Given the description of an element on the screen output the (x, y) to click on. 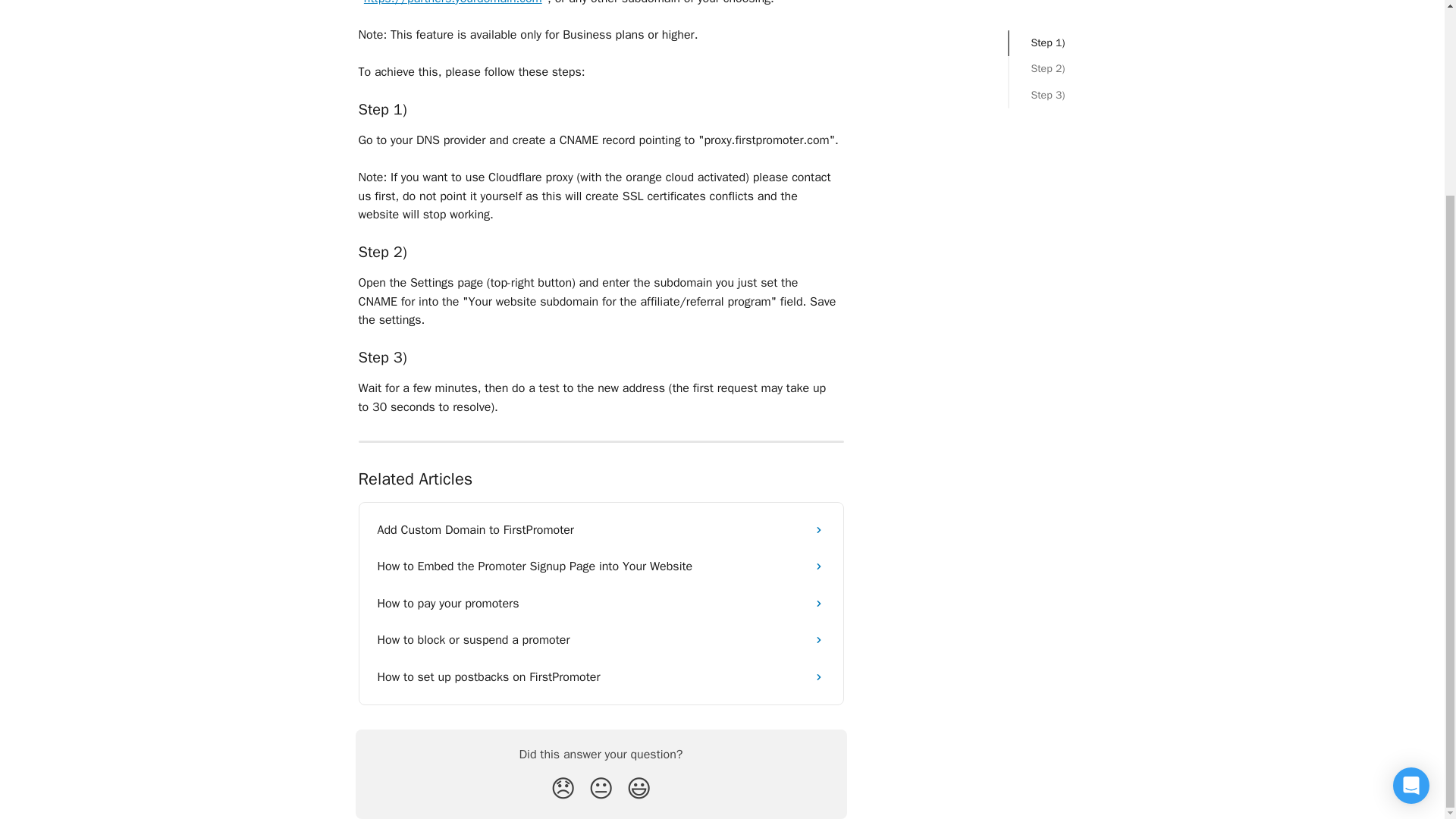
Add Custom Domain to FirstPromoter (601, 529)
How to pay your promoters (601, 603)
How to Embed the Promoter Signup Page into Your Website (601, 565)
How to block or suspend a promoter (601, 639)
How to set up postbacks on FirstPromoter (601, 676)
